Given the description of an element on the screen output the (x, y) to click on. 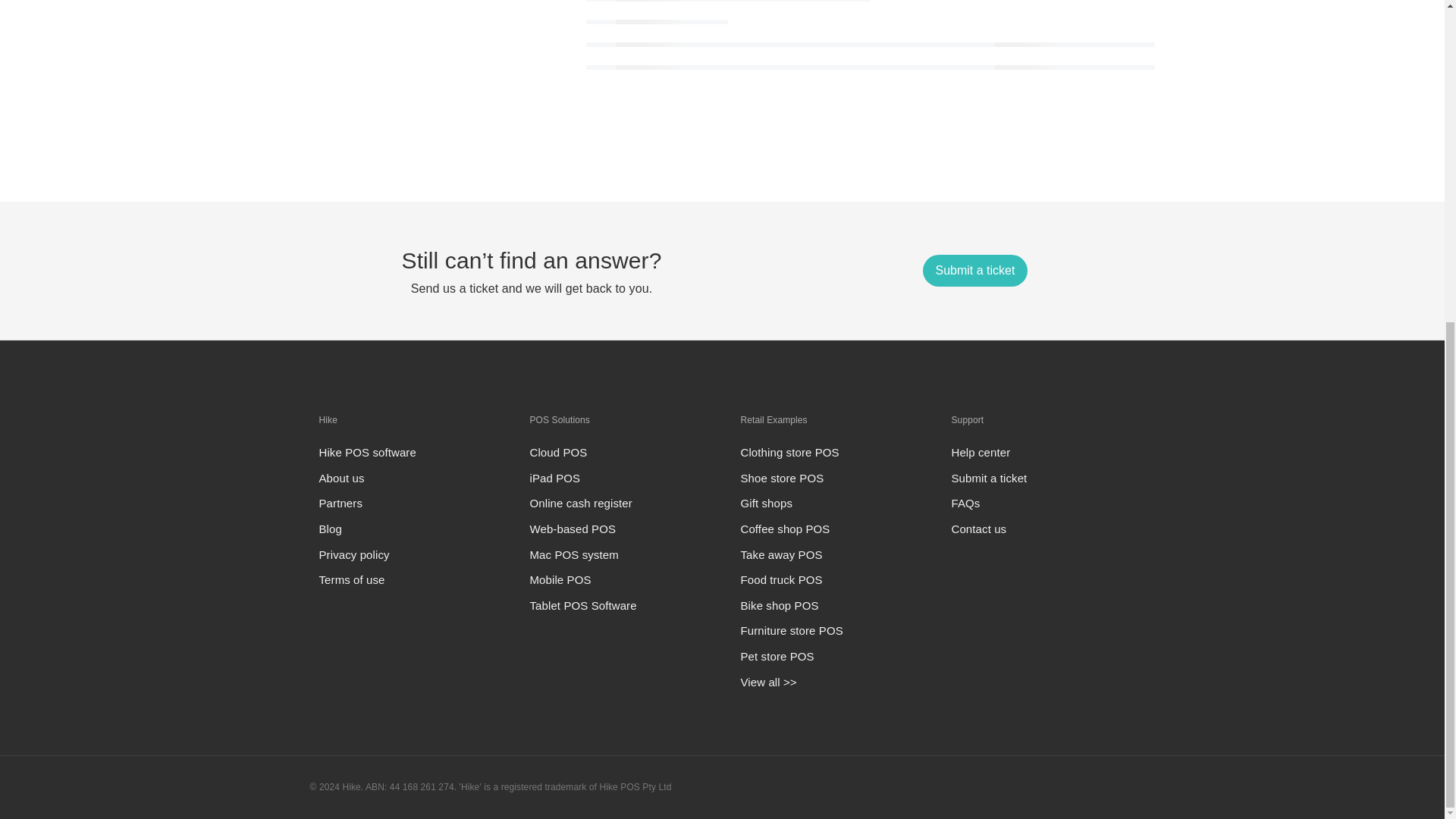
About us (341, 477)
Privacy policy (353, 554)
Pet store POS (776, 656)
Cloud POS (557, 451)
Furniture store POS (791, 630)
Clothing store POS (788, 451)
Online cash register (580, 502)
Gift shops (765, 502)
Blog (329, 528)
Help center (980, 451)
